Given the description of an element on the screen output the (x, y) to click on. 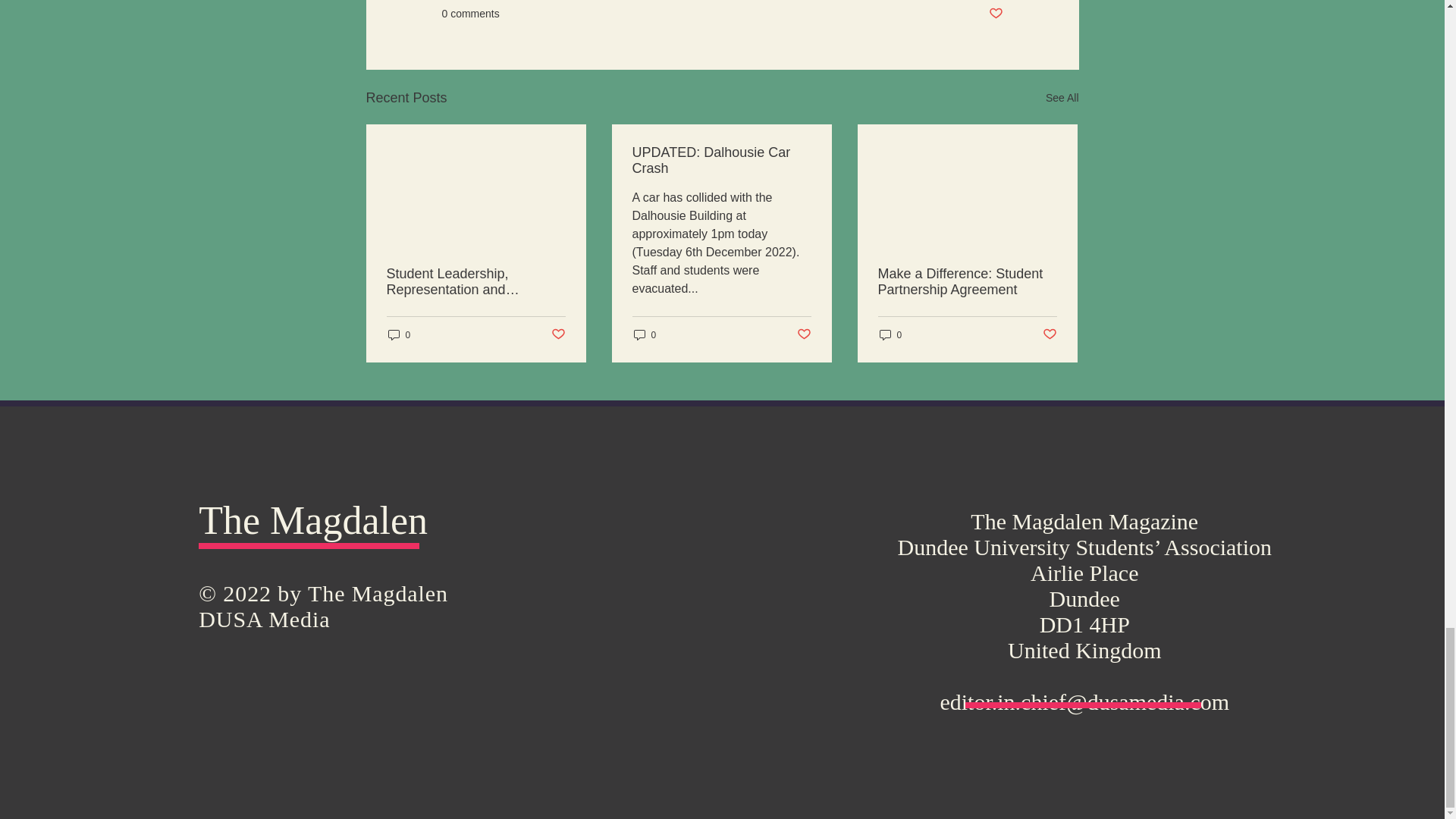
0 (890, 334)
Post not marked as liked (1049, 334)
UPDATED: Dalhousie Car Crash (720, 160)
0 (399, 334)
The Magdalen (313, 520)
Make a Difference: Student Partnership Agreement (967, 282)
Post not marked as liked (803, 334)
0 (644, 334)
Post not marked as liked (995, 13)
